Given the description of an element on the screen output the (x, y) to click on. 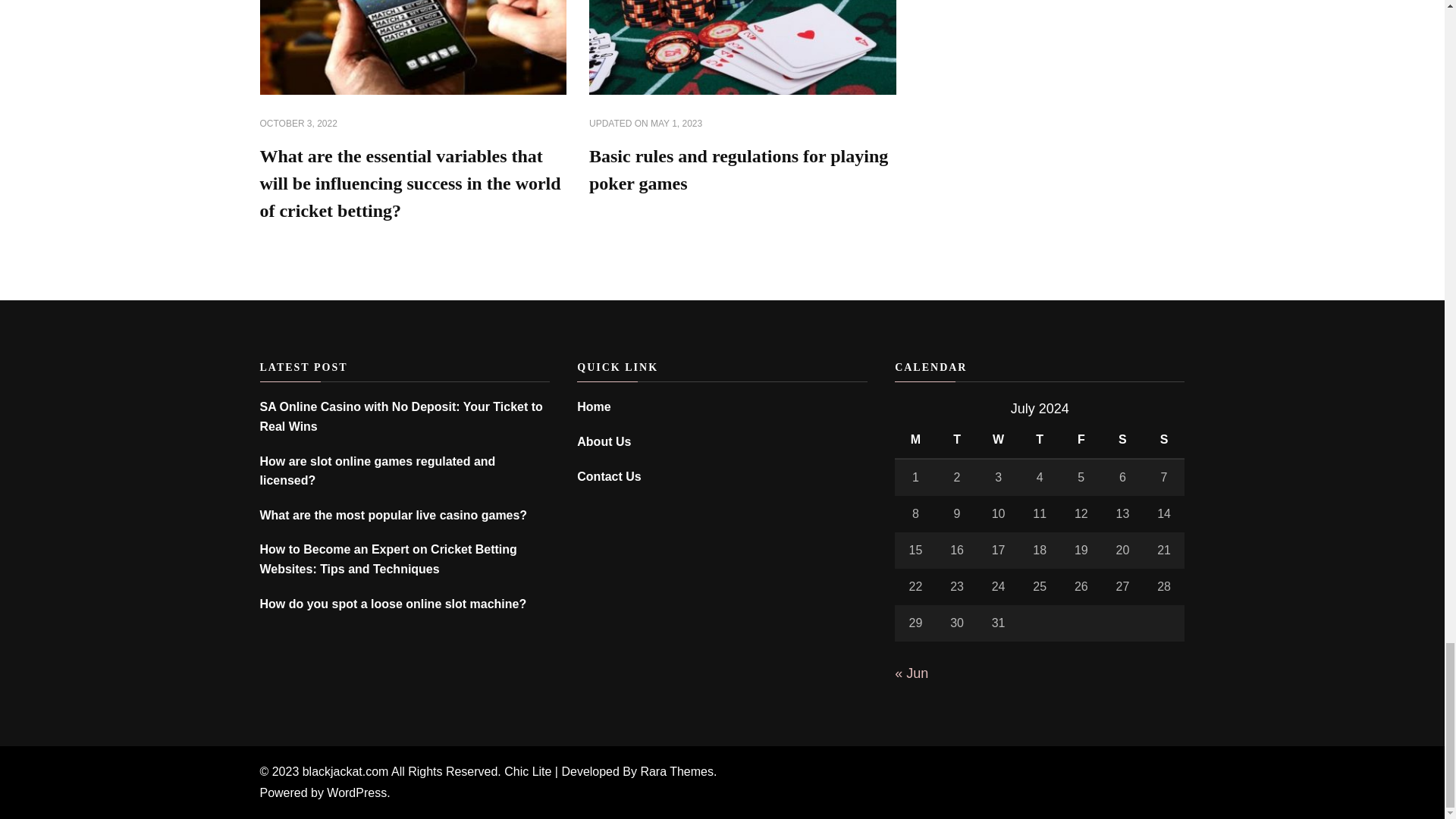
Monday (915, 439)
Saturday (1122, 439)
Wednesday (997, 439)
MAY 1, 2023 (675, 124)
Friday (1080, 439)
Sunday (1163, 439)
Tuesday (957, 439)
OCTOBER 3, 2022 (297, 124)
Basic rules and regulations for playing poker games (738, 169)
Thursday (1040, 439)
